Given the description of an element on the screen output the (x, y) to click on. 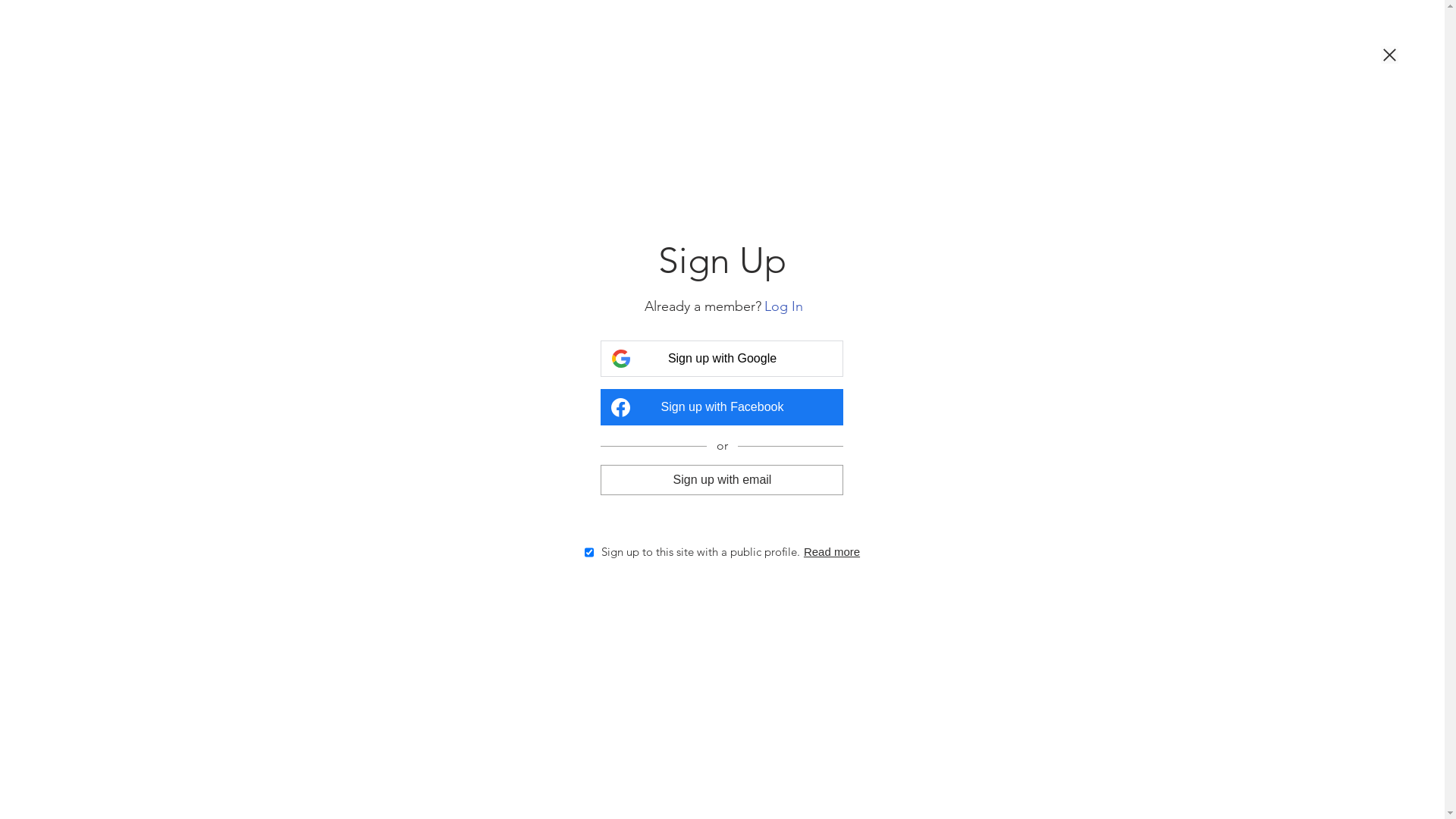
Sign up with email Element type: text (721, 479)
Sign up with Google Element type: text (721, 358)
Sign up with Facebook Element type: text (721, 407)
Log In Element type: text (783, 306)
Read more Element type: text (831, 551)
